Given the description of an element on the screen output the (x, y) to click on. 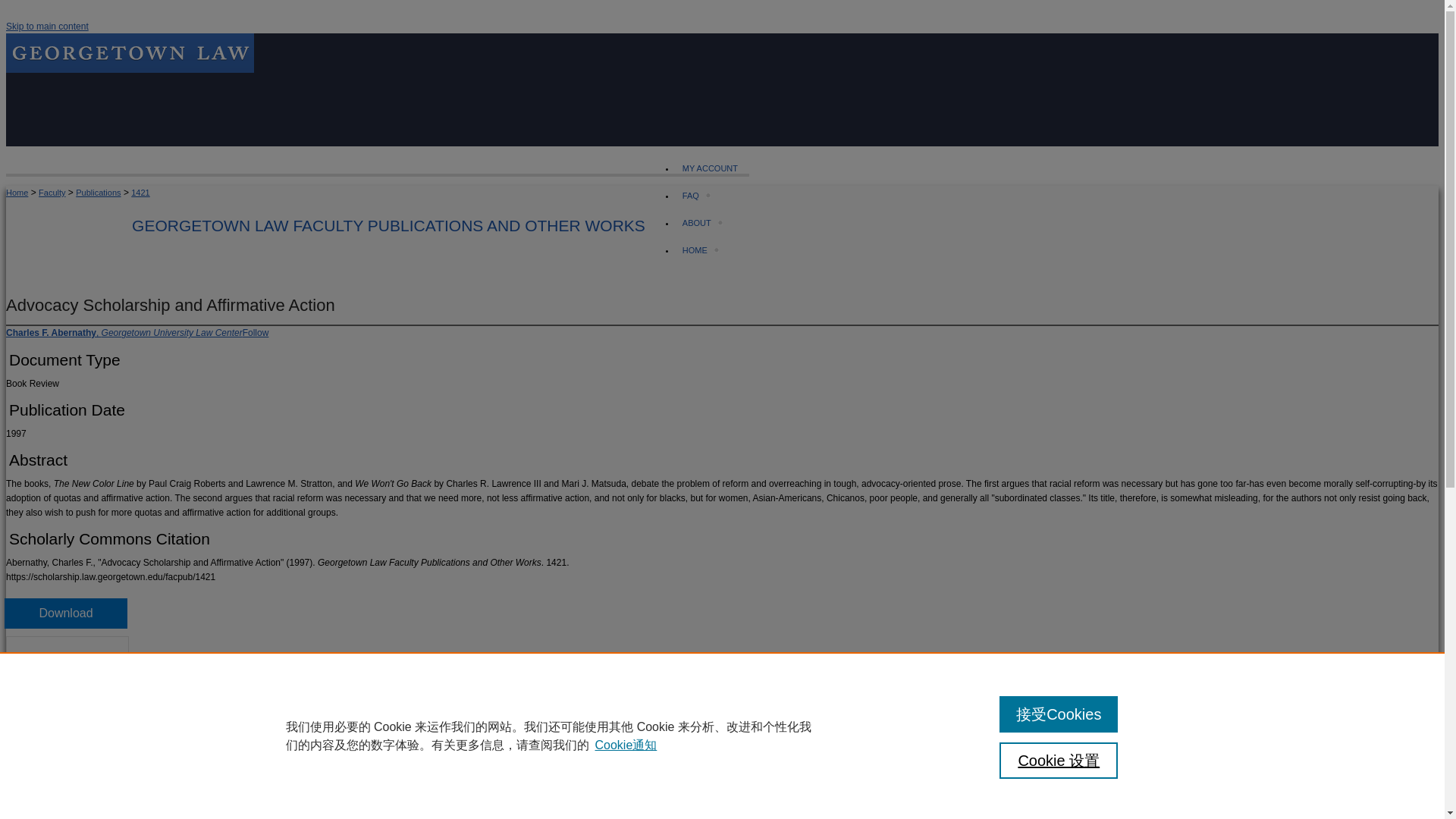
Skip to main content (46, 26)
My Account (712, 167)
Facebook (16, 817)
Charles F. Abernathy, Georgetown University Law Center (124, 332)
FAQ (692, 194)
Home (16, 192)
Georgetown University Law Center (129, 52)
Publications (97, 192)
Advocacy Scholarship and Affirmative Action (169, 304)
ABOUT (698, 222)
Faculty (52, 192)
About (698, 222)
Follow Charles F. Abernathy (256, 332)
MY ACCOUNT (712, 167)
Civil Rights and Discrimination Commons (55, 759)
